Given the description of an element on the screen output the (x, y) to click on. 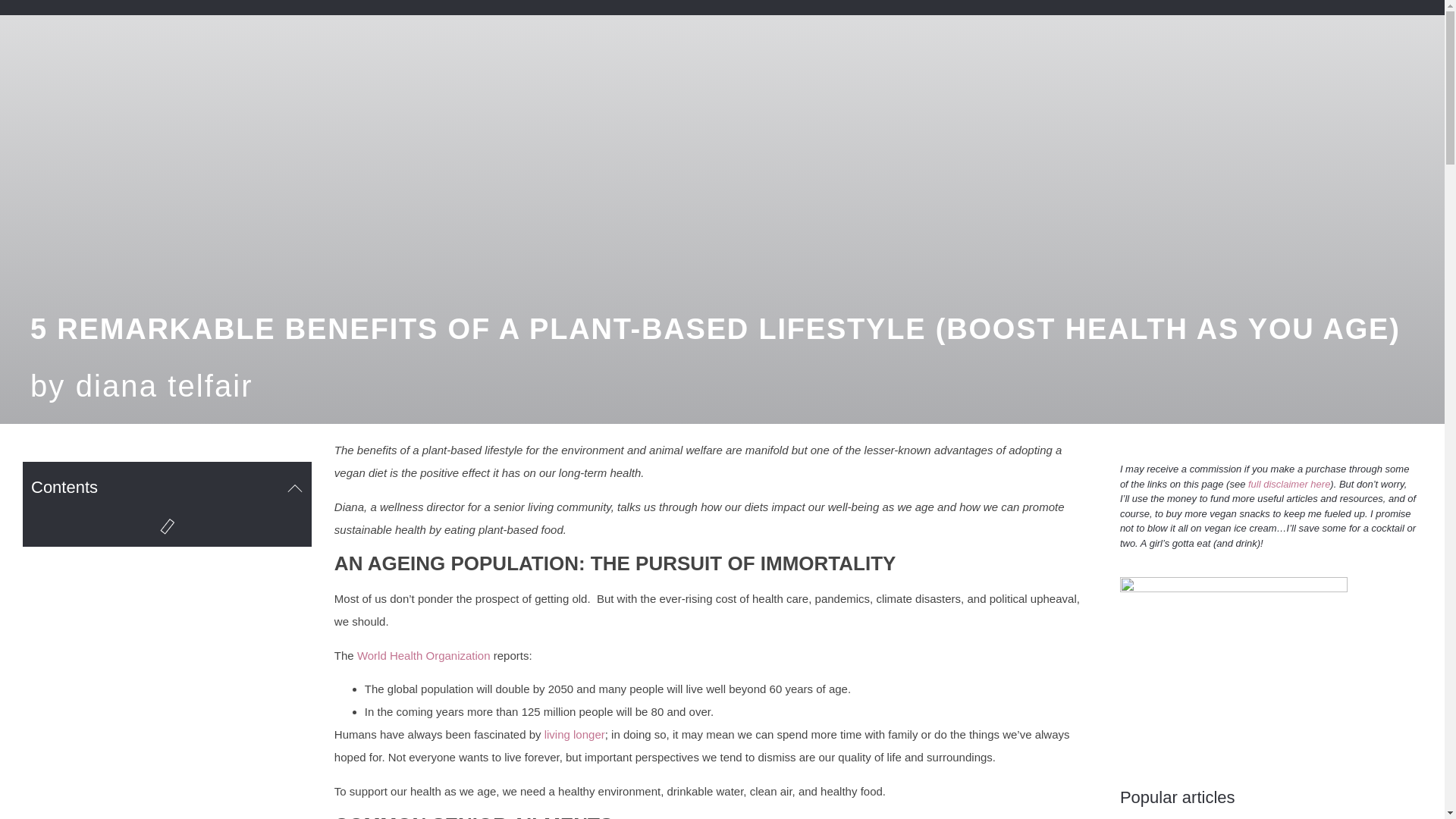
LIFESTYLE (1008, 3)
by diana telfair (141, 385)
FOOD (1088, 3)
full disclaimer here (1288, 483)
World Health Organization (423, 655)
living longer (574, 734)
VEGAN DISCOUNTS (1190, 3)
TRAVEL (923, 3)
REVIEWS (841, 3)
